Given the description of an element on the screen output the (x, y) to click on. 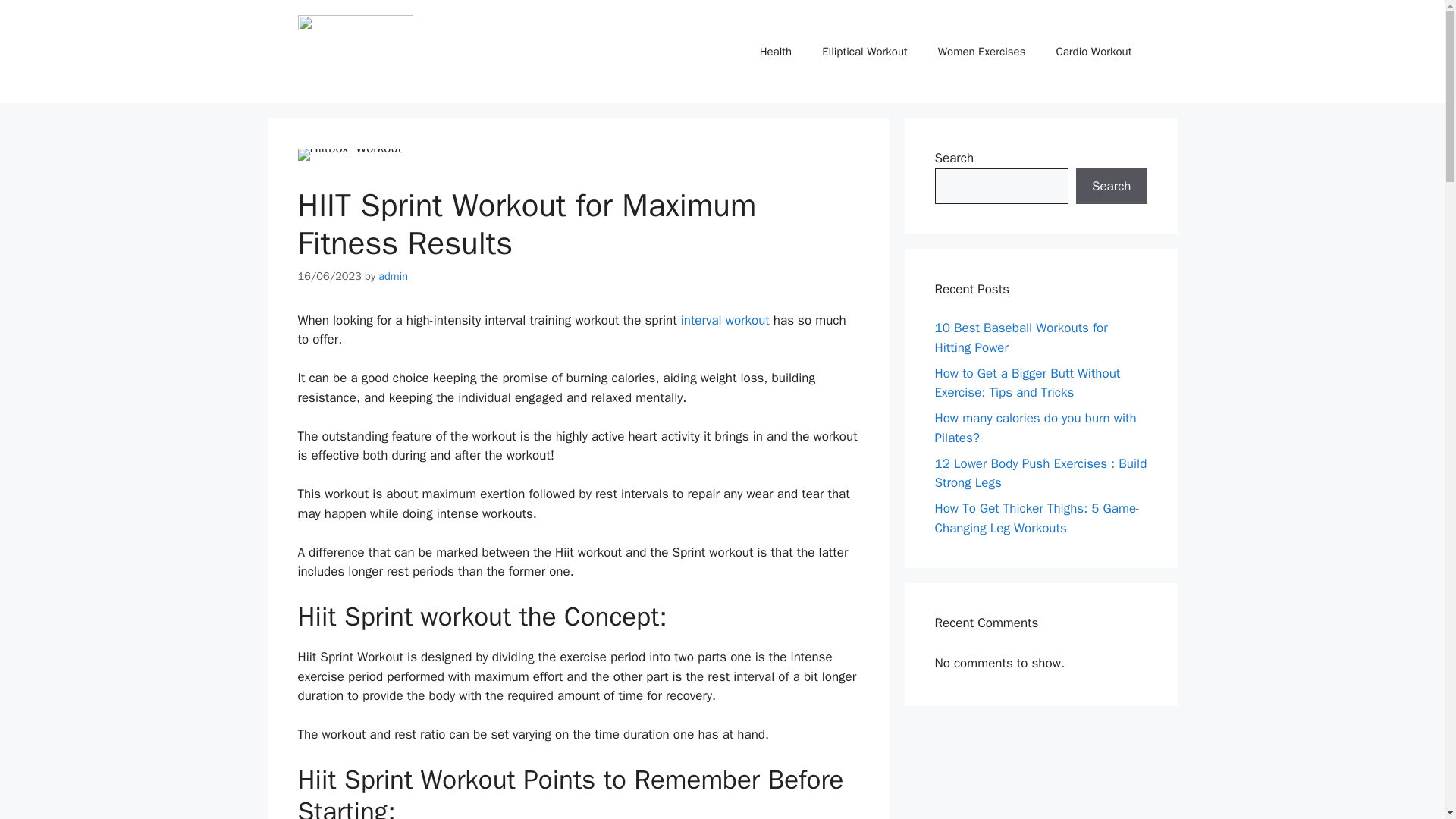
Search (1111, 186)
How many calories do you burn with Pilates? (1034, 427)
interval workout (725, 320)
Elliptical Workout (864, 51)
Cardio Workout (1094, 51)
12 Lower Body Push Exercises : Build Strong Legs (1040, 472)
admin (392, 275)
How To Get Thicker Thighs: 5 Game-Changing Leg Workouts (1037, 518)
How to Get a Bigger Butt Without Exercise: Tips and Tricks (1026, 383)
10 Best Baseball Workouts for Hitting Power (1020, 337)
